Given the description of an element on the screen output the (x, y) to click on. 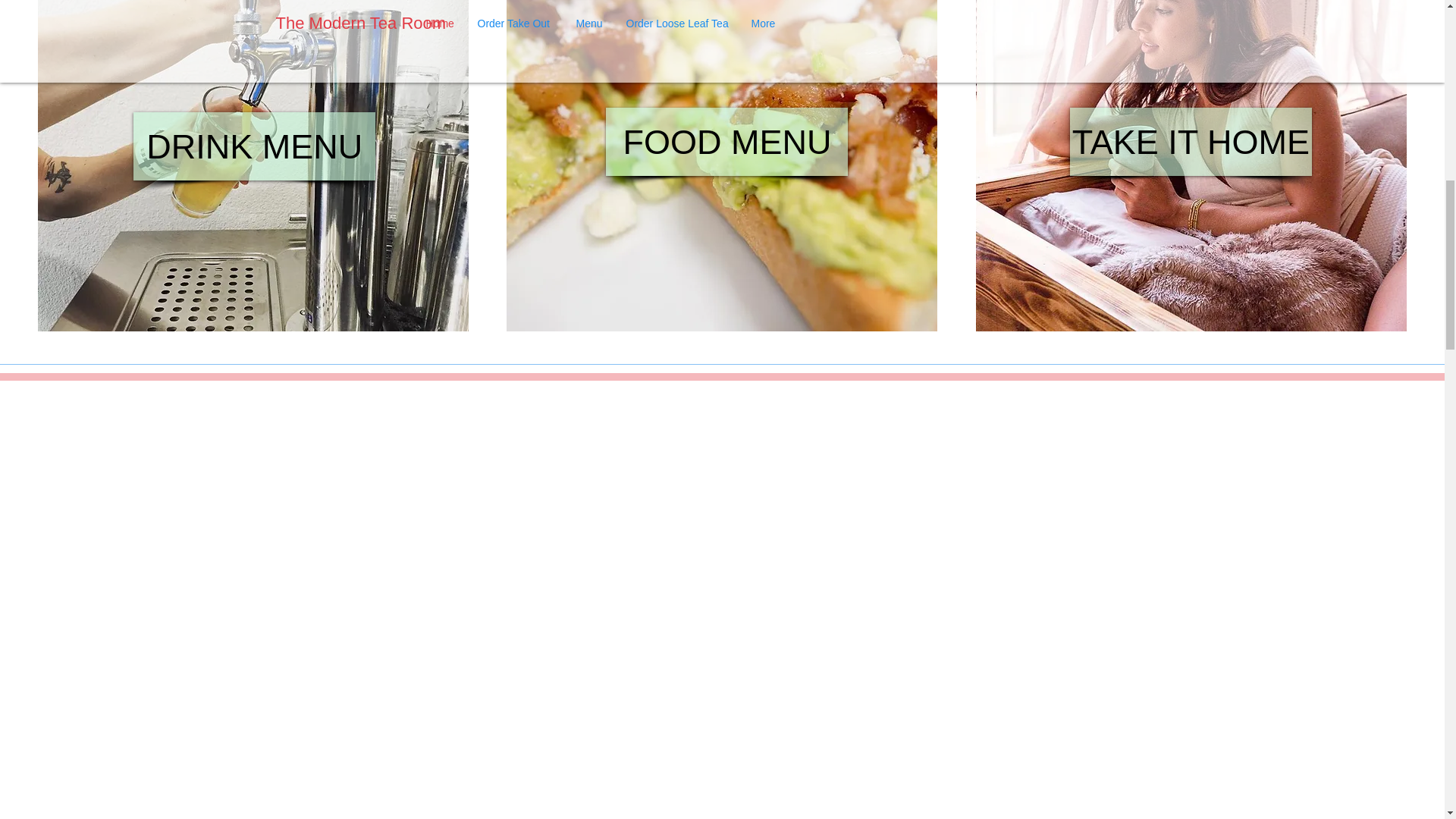
TAKE IT HOME (1190, 141)
FOOD MENU (726, 141)
DRINK MENU (254, 146)
